Given the description of an element on the screen output the (x, y) to click on. 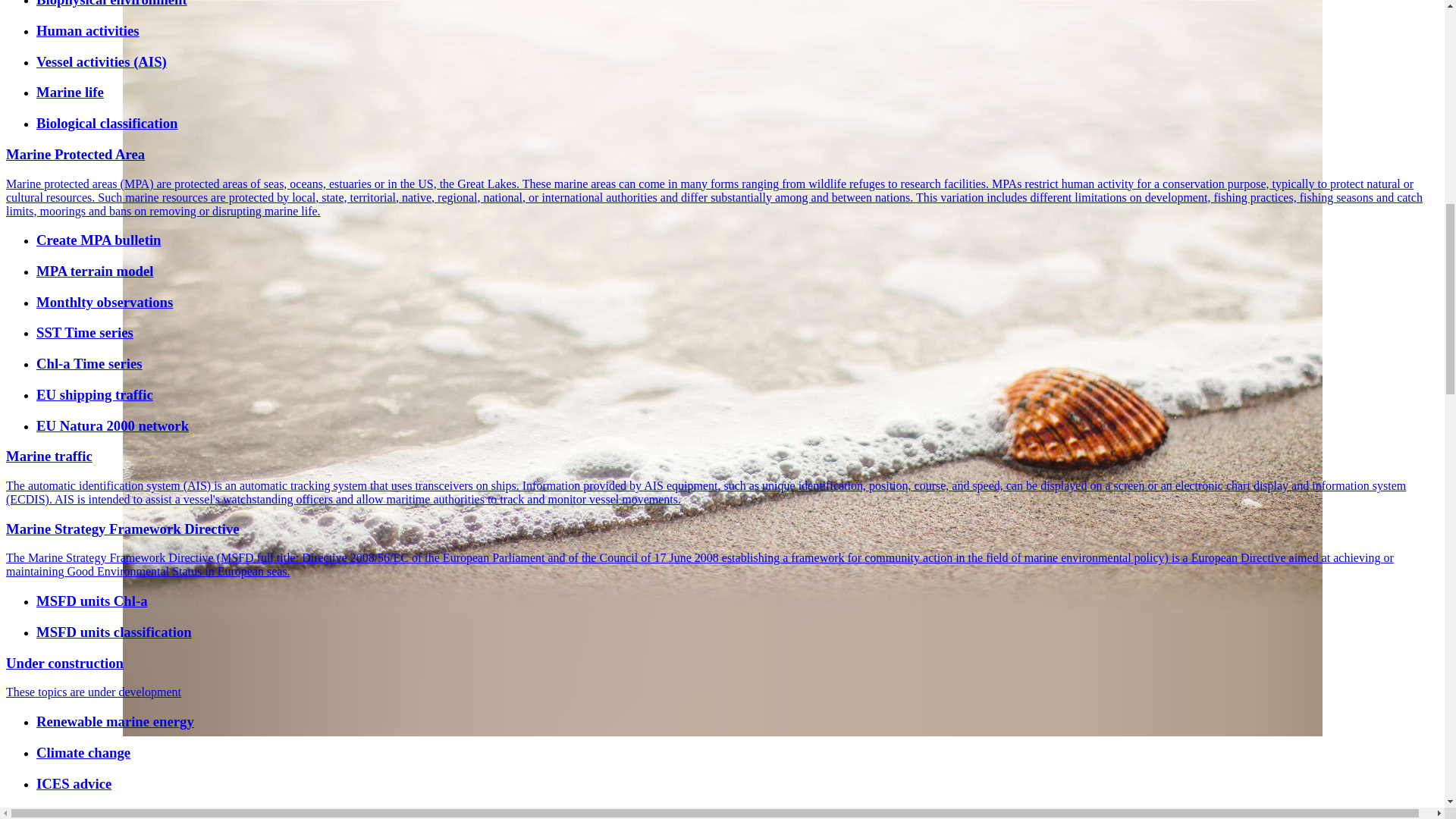
Biological classification (737, 123)
Marine life (737, 92)
Human activities (737, 30)
Create MPA bulletin (737, 239)
